Given the description of an element on the screen output the (x, y) to click on. 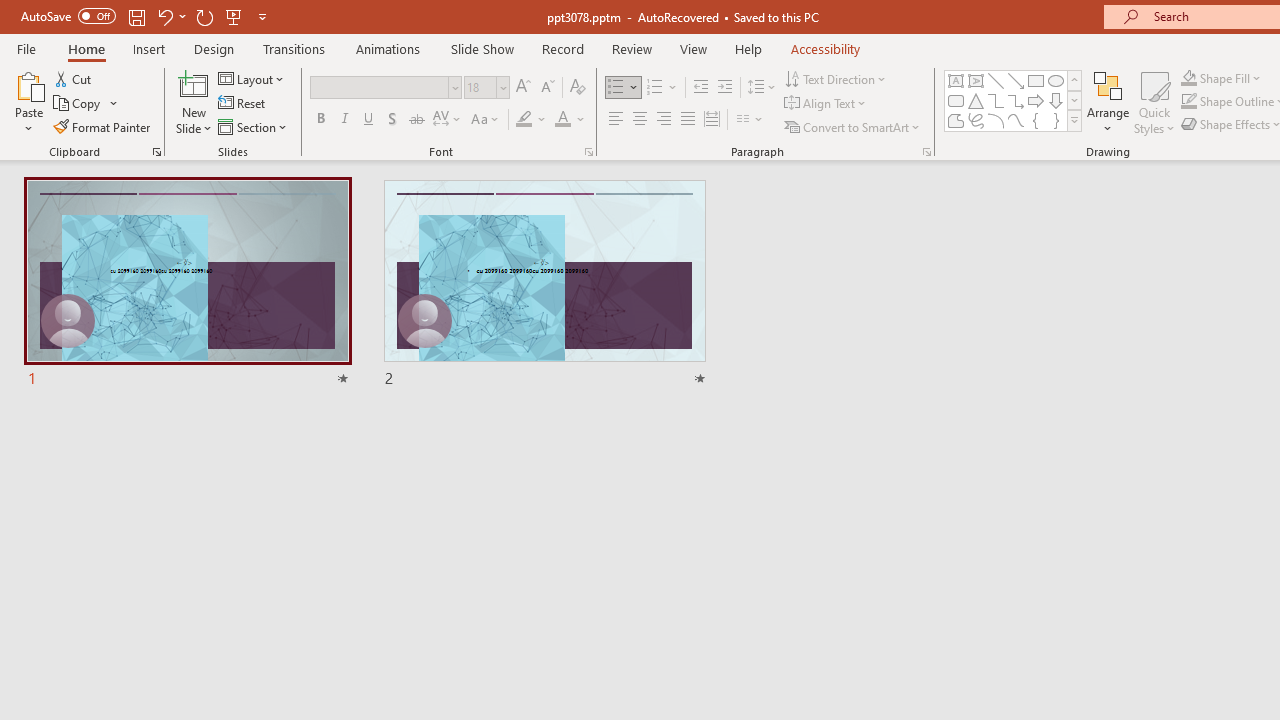
Align Left (616, 119)
Shadow (392, 119)
Shapes (1074, 120)
Rectangle: Rounded Corners (955, 100)
Right Brace (1055, 120)
Font... (588, 151)
Decrease Indent (700, 87)
Freeform: Shape (955, 120)
